Given the description of an element on the screen output the (x, y) to click on. 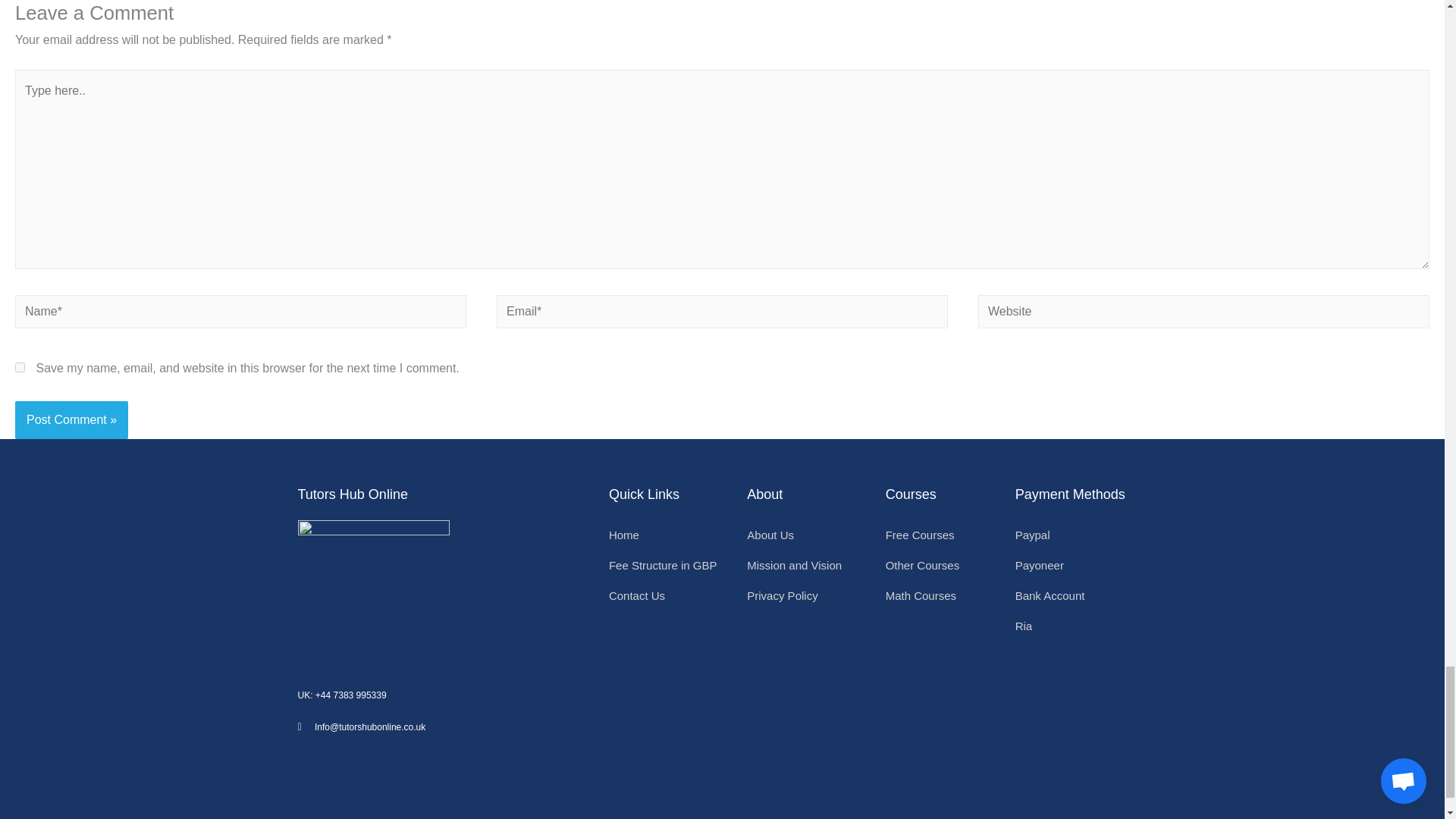
yes (19, 367)
